Given the description of an element on the screen output the (x, y) to click on. 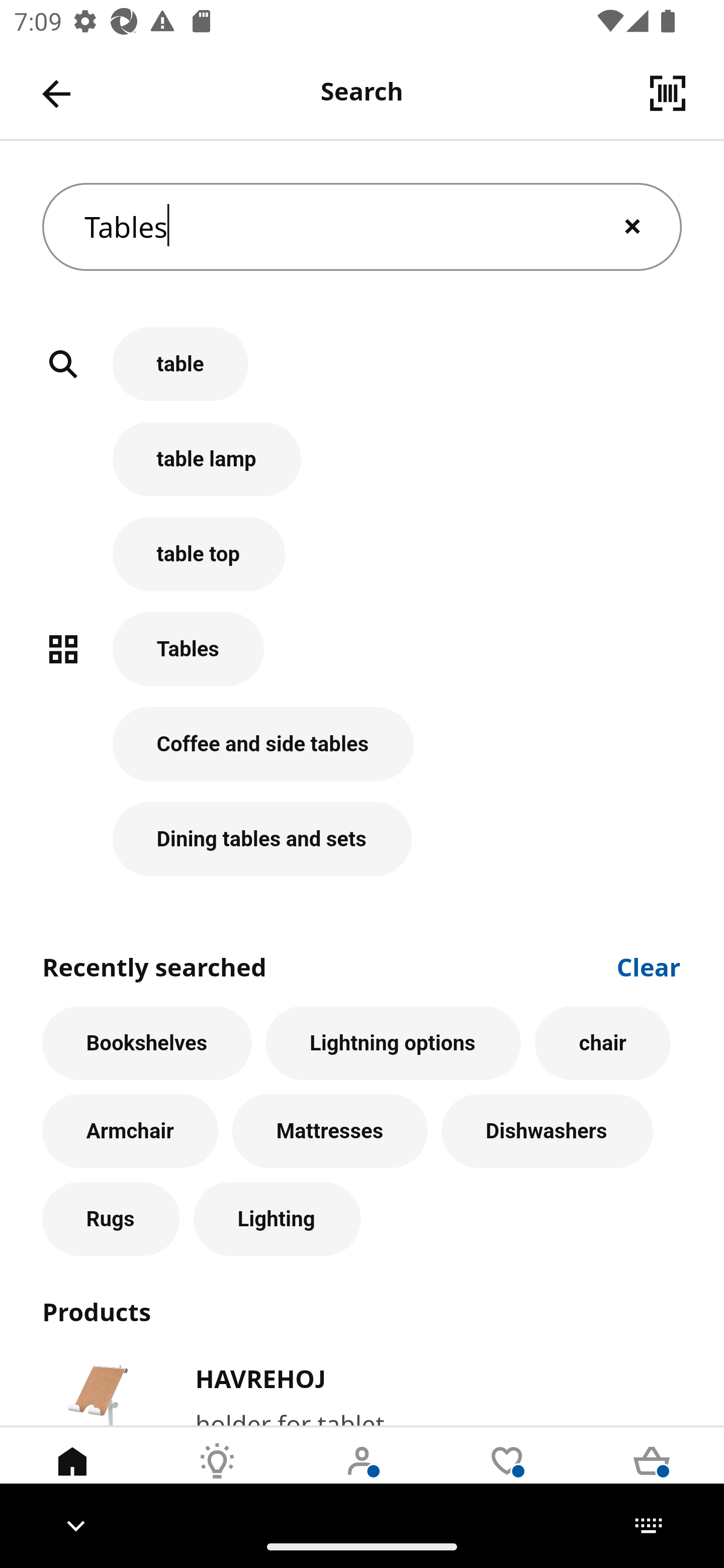
Tables (361, 227)
table (361, 374)
table lamp (361, 469)
table top (361, 564)
Tables (361, 659)
Coffee and side tables (361, 754)
Dining tables and sets (361, 839)
Clear (649, 965)
Bookshelves (146, 1043)
Lightning options (392, 1043)
chair (602, 1043)
Armchair (129, 1131)
Mattresses (329, 1131)
Dishwashers (547, 1131)
Rugs (110, 1218)
Lighting (277, 1218)
​H​A​V​R​E​H​O​J​
holder for tablet
$
99
.9 (361, 1391)
Home
Tab 1 of 5 (72, 1476)
Inspirations
Tab 2 of 5 (216, 1476)
User
Tab 3 of 5 (361, 1476)
Wishlist
Tab 4 of 5 (506, 1476)
Cart
Tab 5 of 5 (651, 1476)
